Given the description of an element on the screen output the (x, y) to click on. 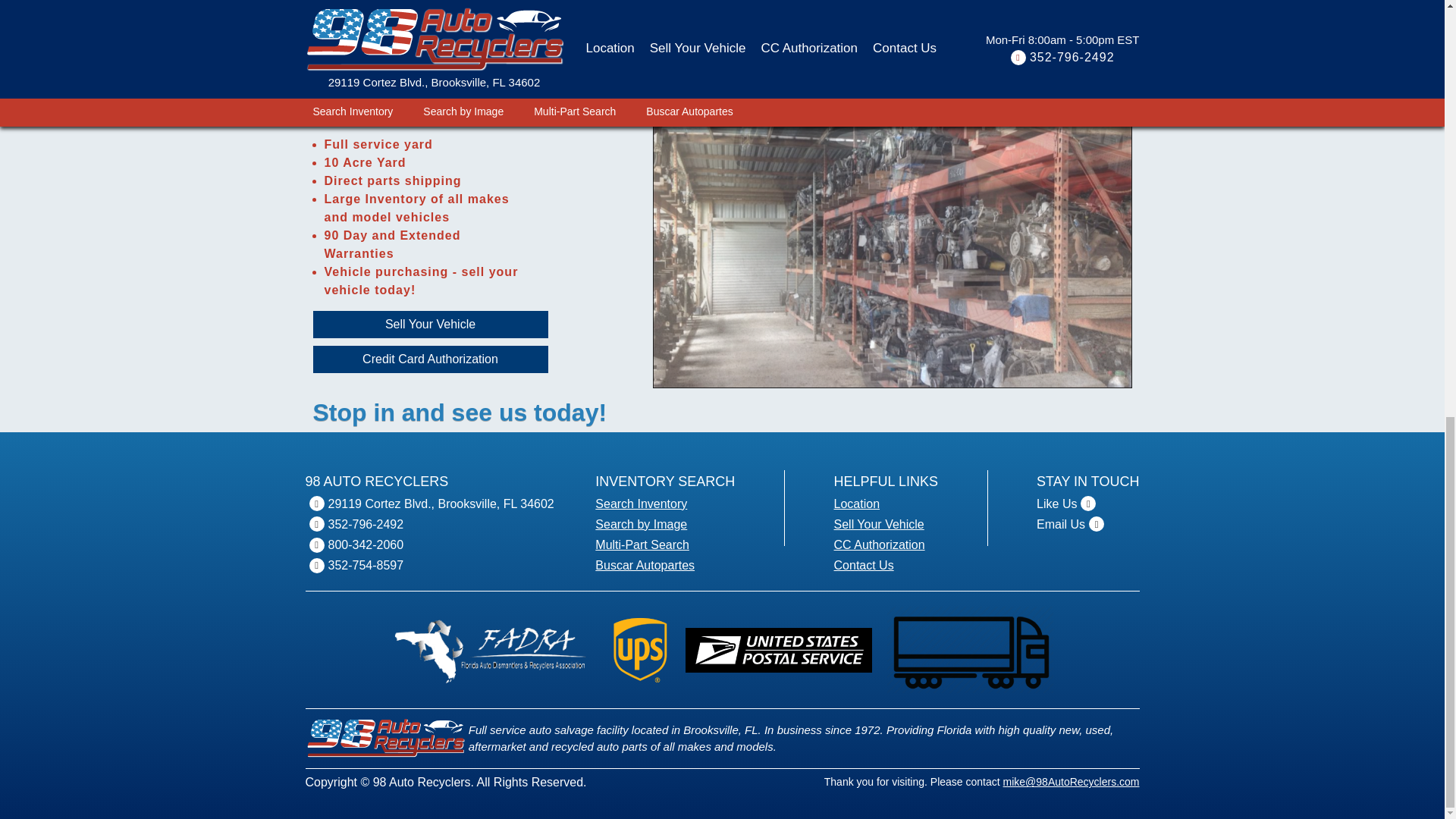
Search Inventory (641, 503)
Search by Image (641, 524)
Contact Us (863, 565)
Email Us (1060, 524)
Location (857, 503)
CC Authorization (879, 544)
352-796-2492 (365, 524)
Multi-Part Search (641, 544)
Sell Your Vehicle (879, 524)
800-342-2060 (365, 544)
